Given the description of an element on the screen output the (x, y) to click on. 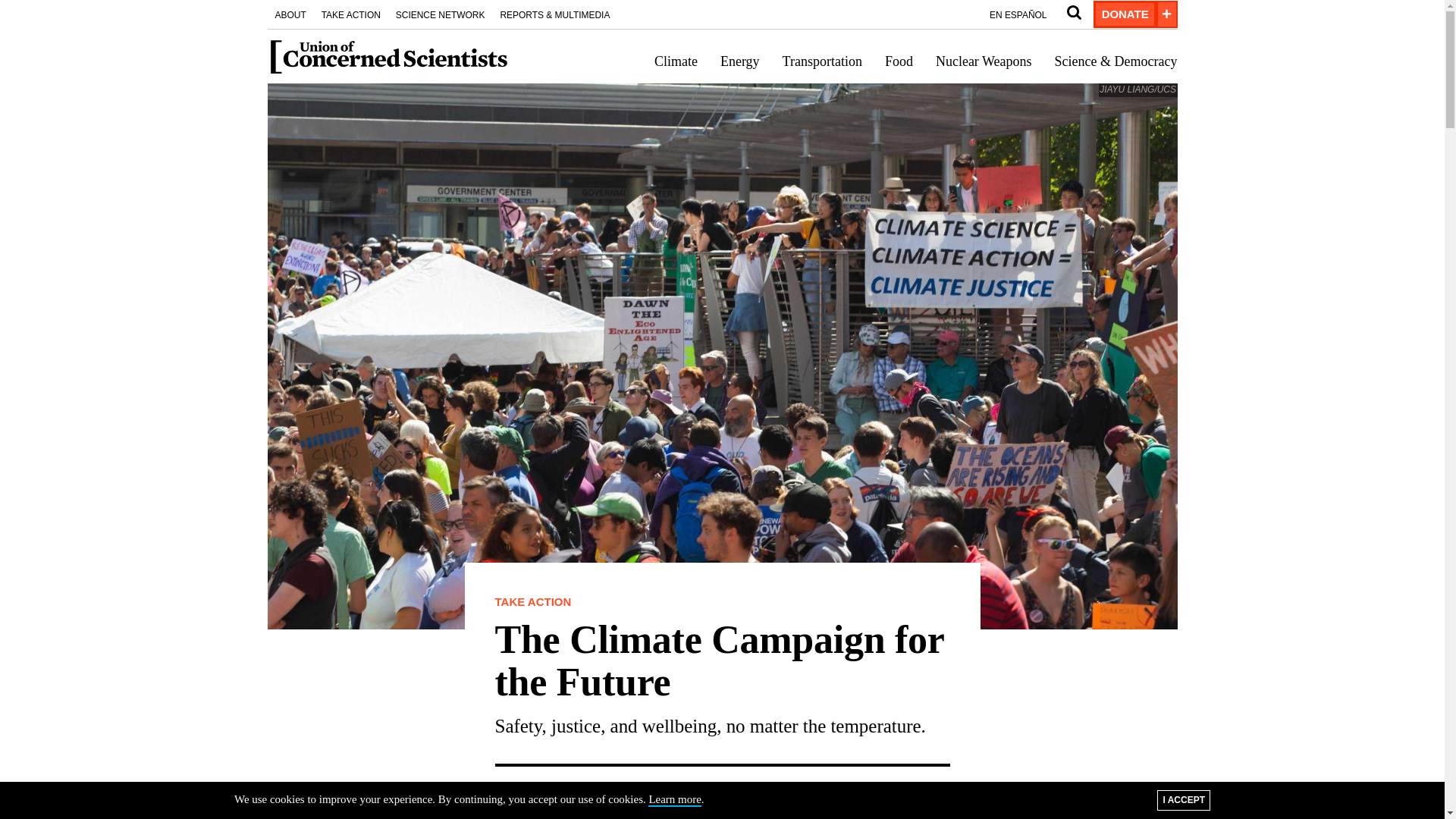
TAKE ACTION (351, 13)
DONATE (1124, 13)
ABOUT (289, 13)
Home (387, 56)
SCIENCE NETWORK (440, 13)
